Given the description of an element on the screen output the (x, y) to click on. 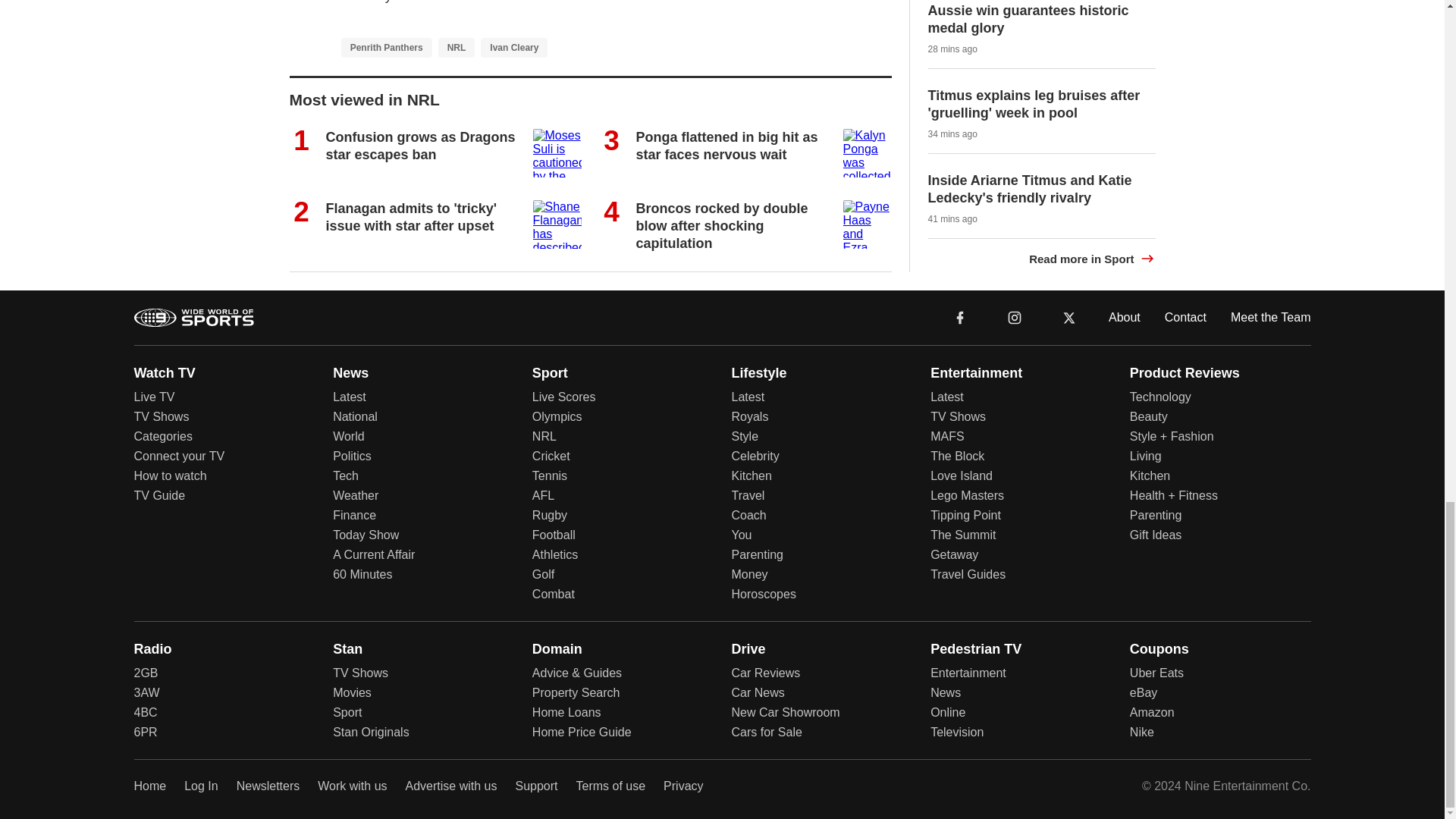
Penrith Panthers (386, 47)
instagram (1013, 316)
Ivan Cleary (513, 47)
facebook (959, 316)
facebook (960, 317)
Confusion grows as Dragons star escapes ban (420, 145)
NRL (457, 47)
x (1069, 316)
Broncos rocked by double blow after shocking capitulation (721, 225)
Ponga flattened in big hit as star faces nervous wait (725, 145)
